Given the description of an element on the screen output the (x, y) to click on. 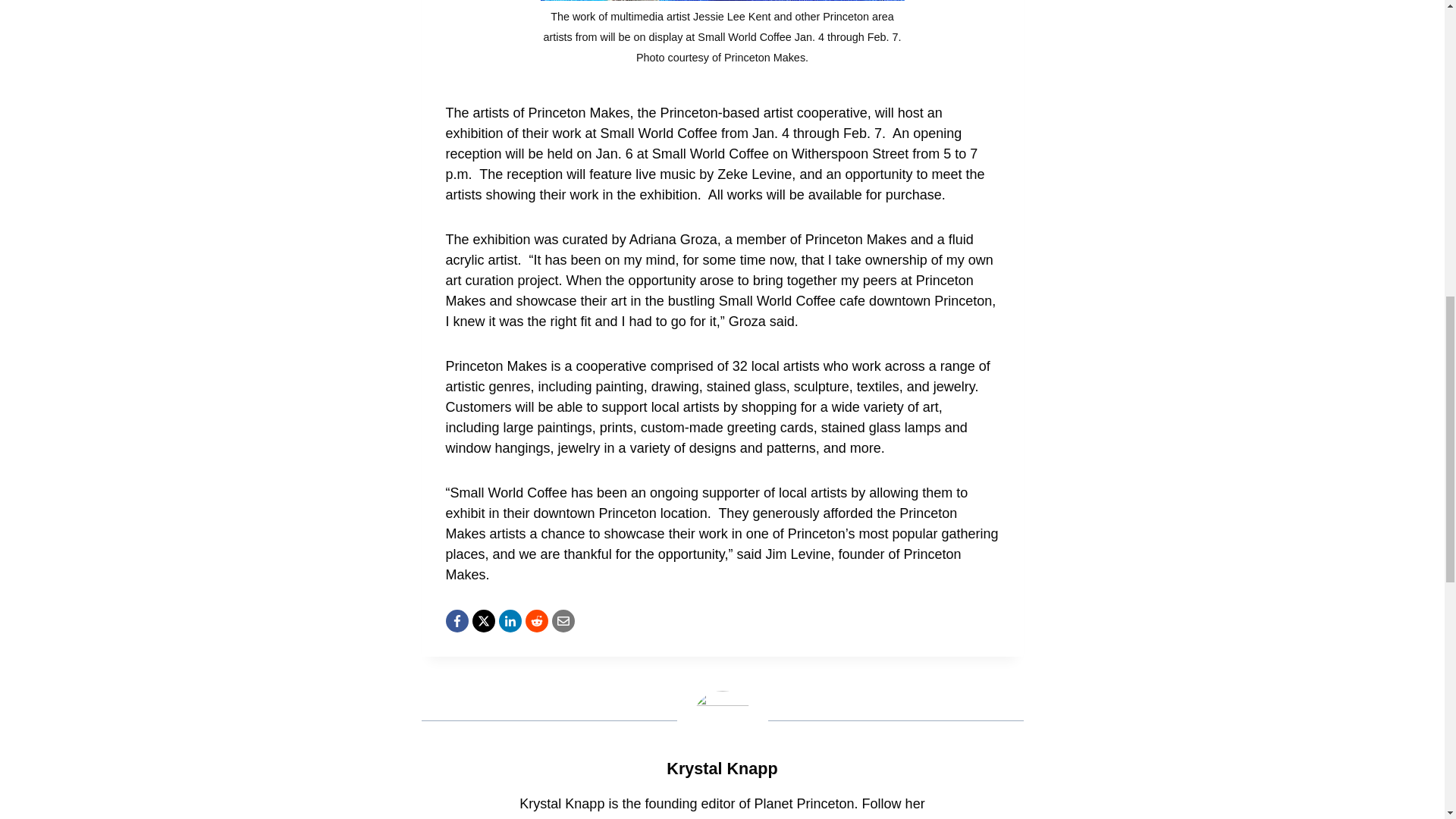
Posts by Krystal Knapp (721, 768)
Krystal Knapp (721, 768)
